Given the description of an element on the screen output the (x, y) to click on. 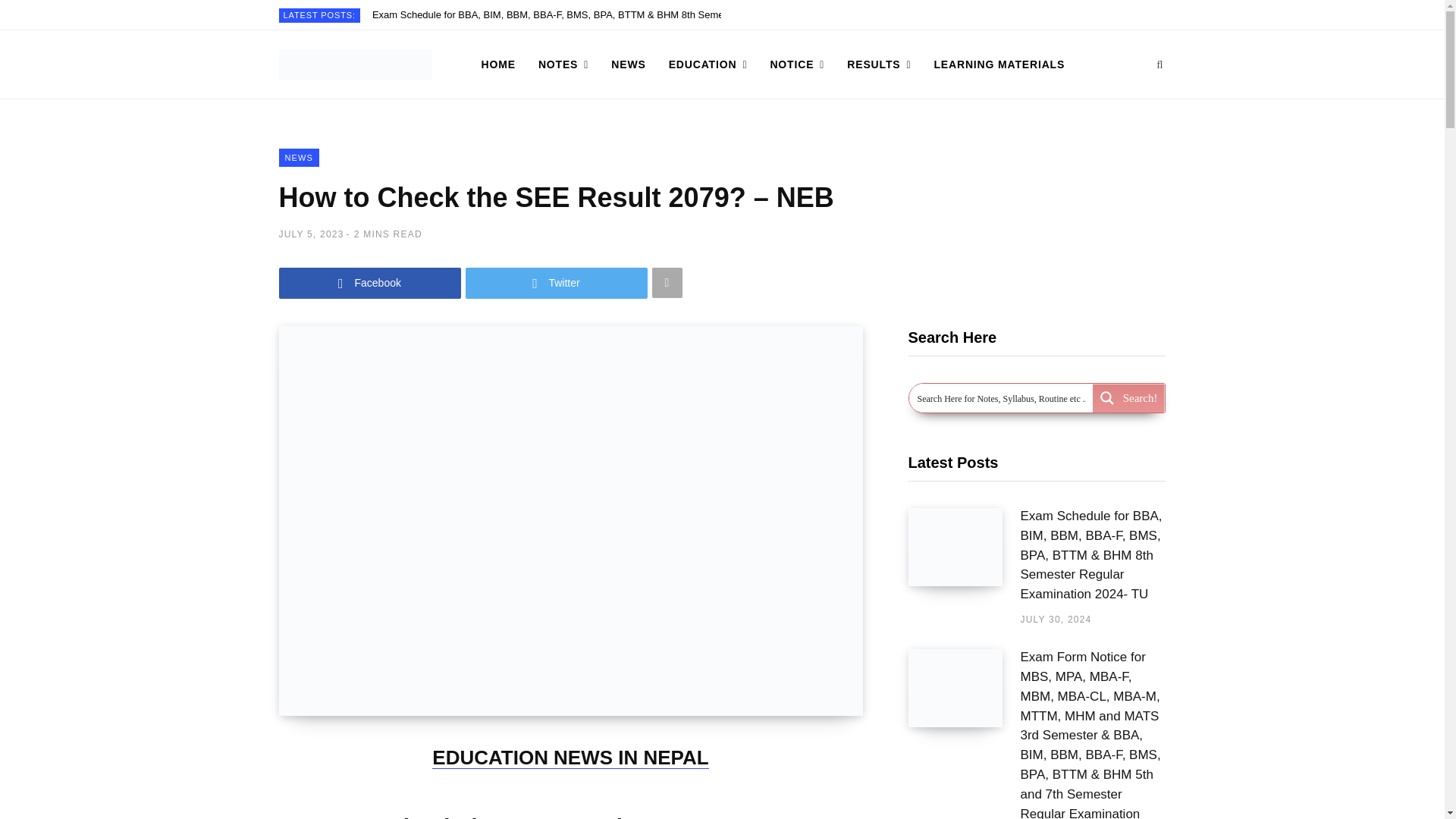
Facebook (370, 282)
NOTICE (796, 64)
NOTES (563, 64)
HOME (498, 64)
Twitter (556, 282)
Gurubaa (355, 64)
NEWS (627, 64)
EDUCATION (708, 64)
Search (1159, 64)
